Given the description of an element on the screen output the (x, y) to click on. 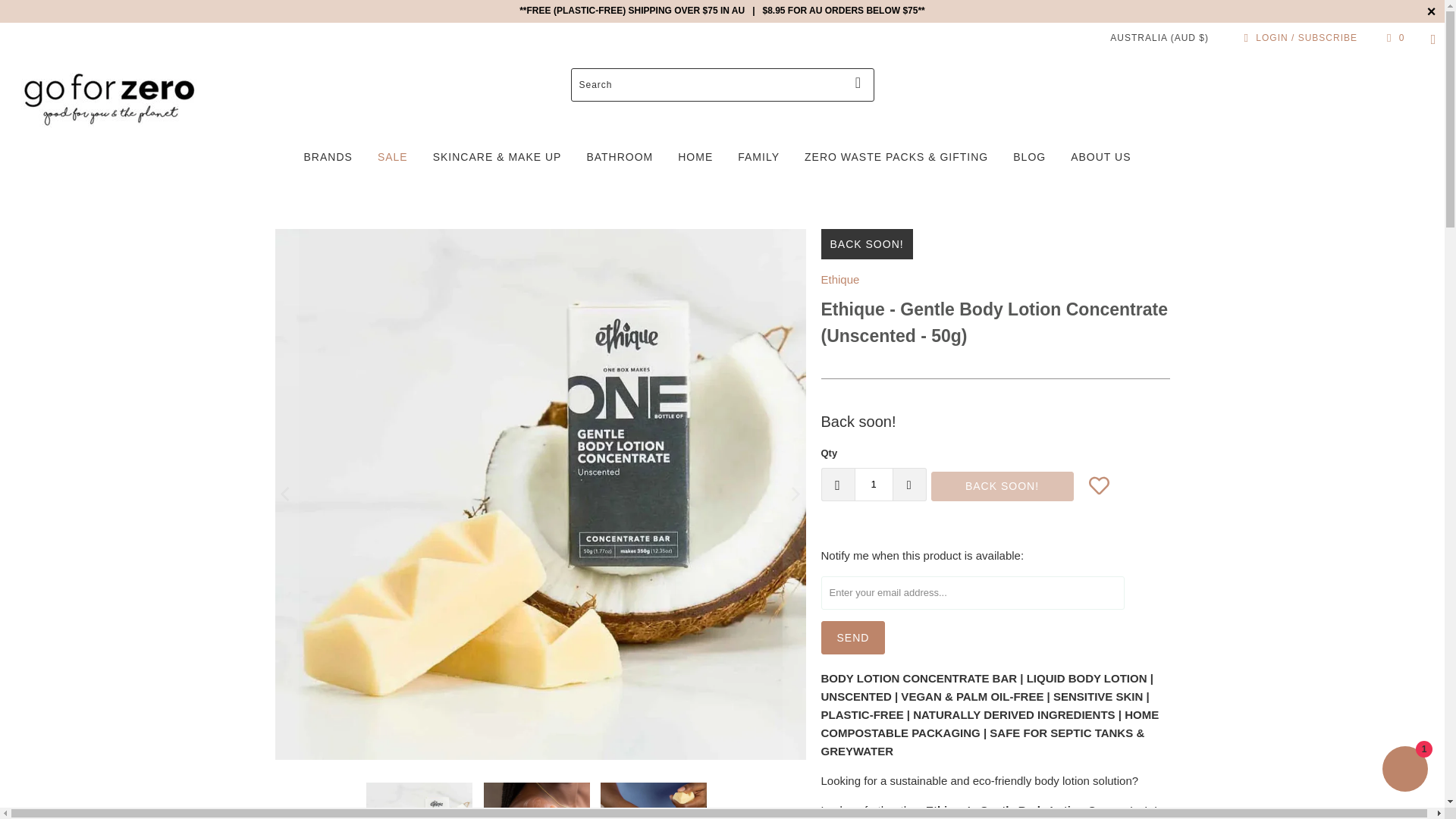
My Account   (1297, 37)
1 (872, 483)
Ethique (840, 278)
Send (853, 636)
Go For Zero (109, 99)
